Given the description of an element on the screen output the (x, y) to click on. 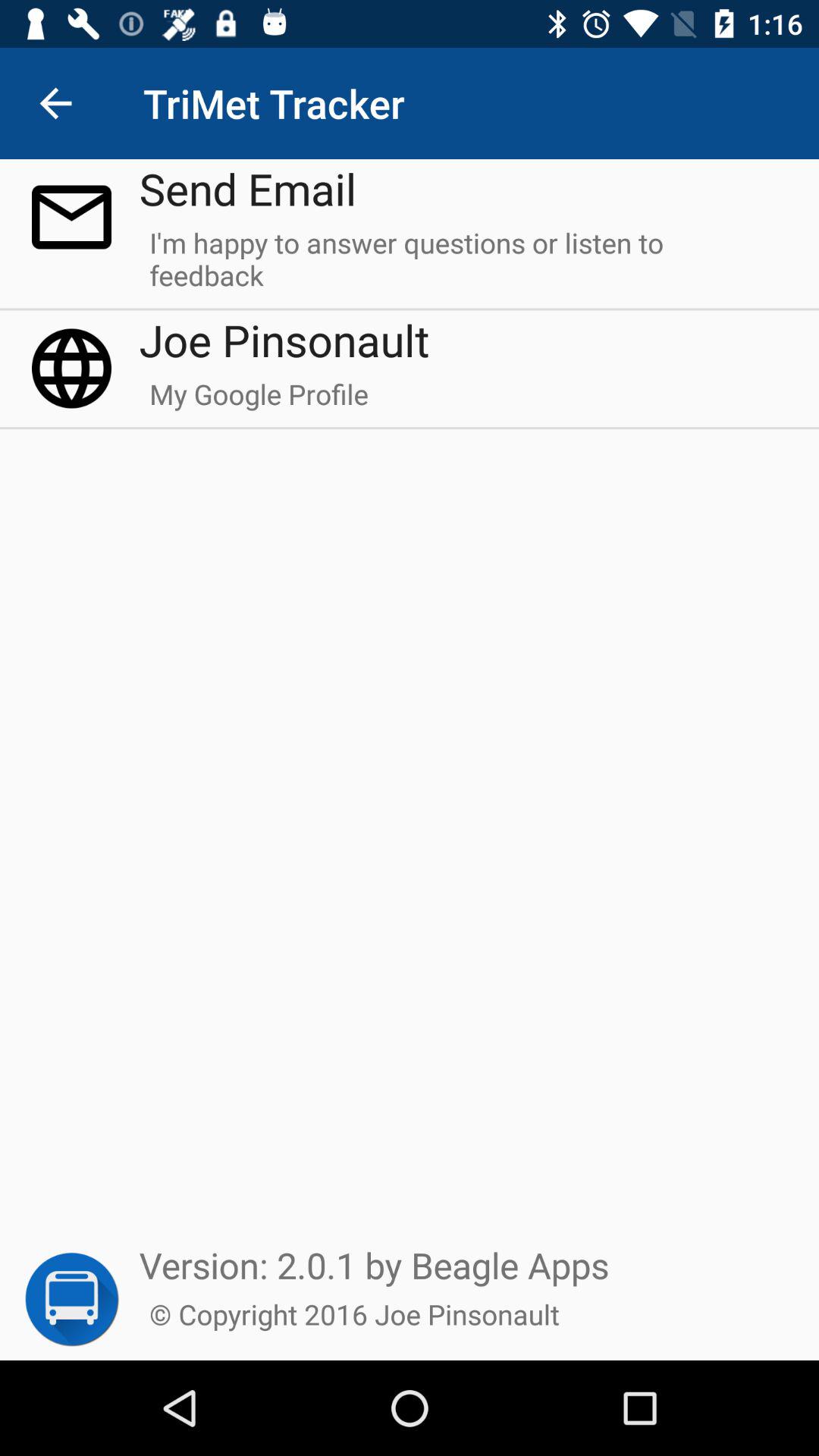
open the i m happy (464, 266)
